Given the description of an element on the screen output the (x, y) to click on. 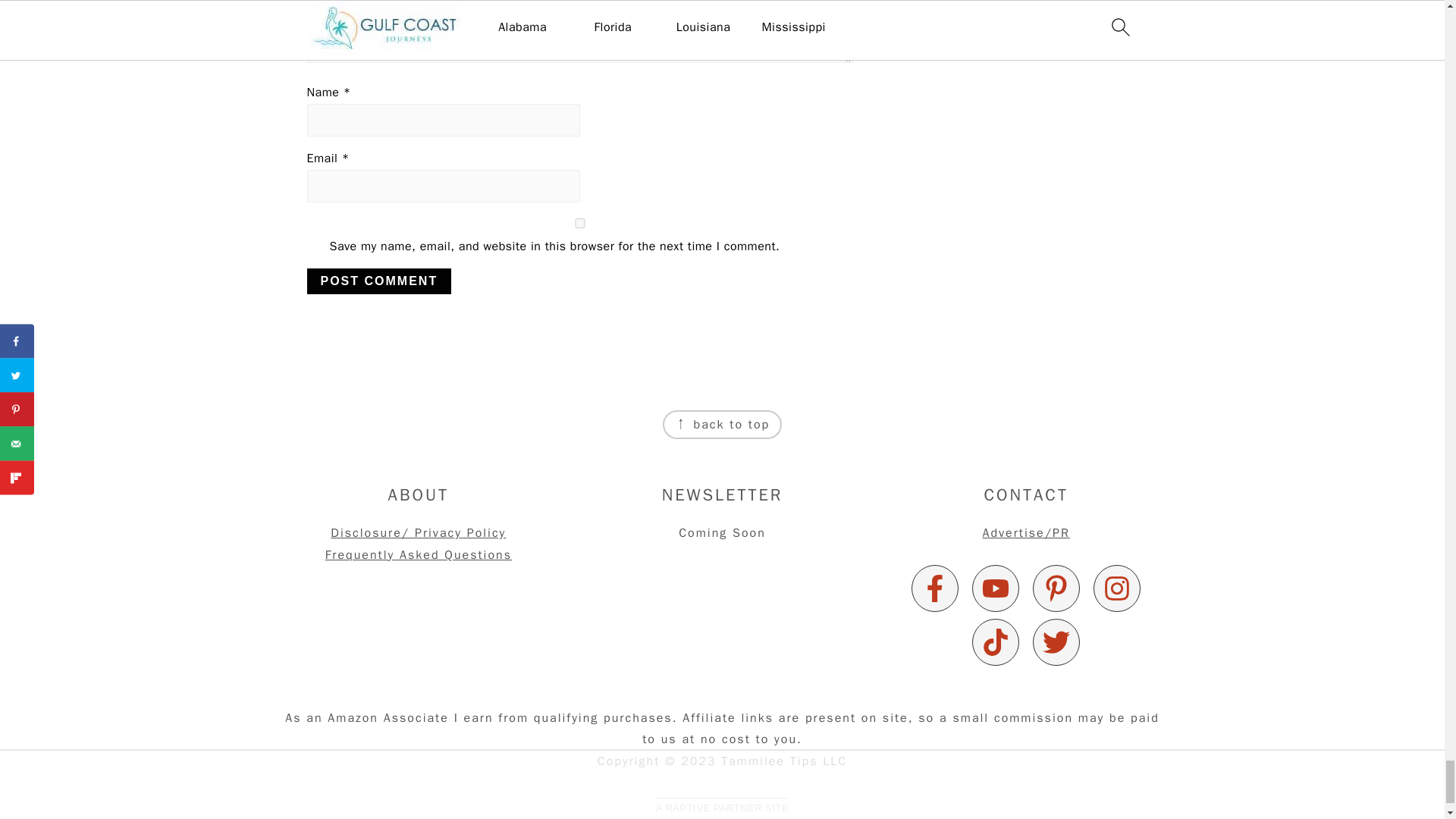
yes (578, 223)
Post Comment (378, 281)
